Given the description of an element on the screen output the (x, y) to click on. 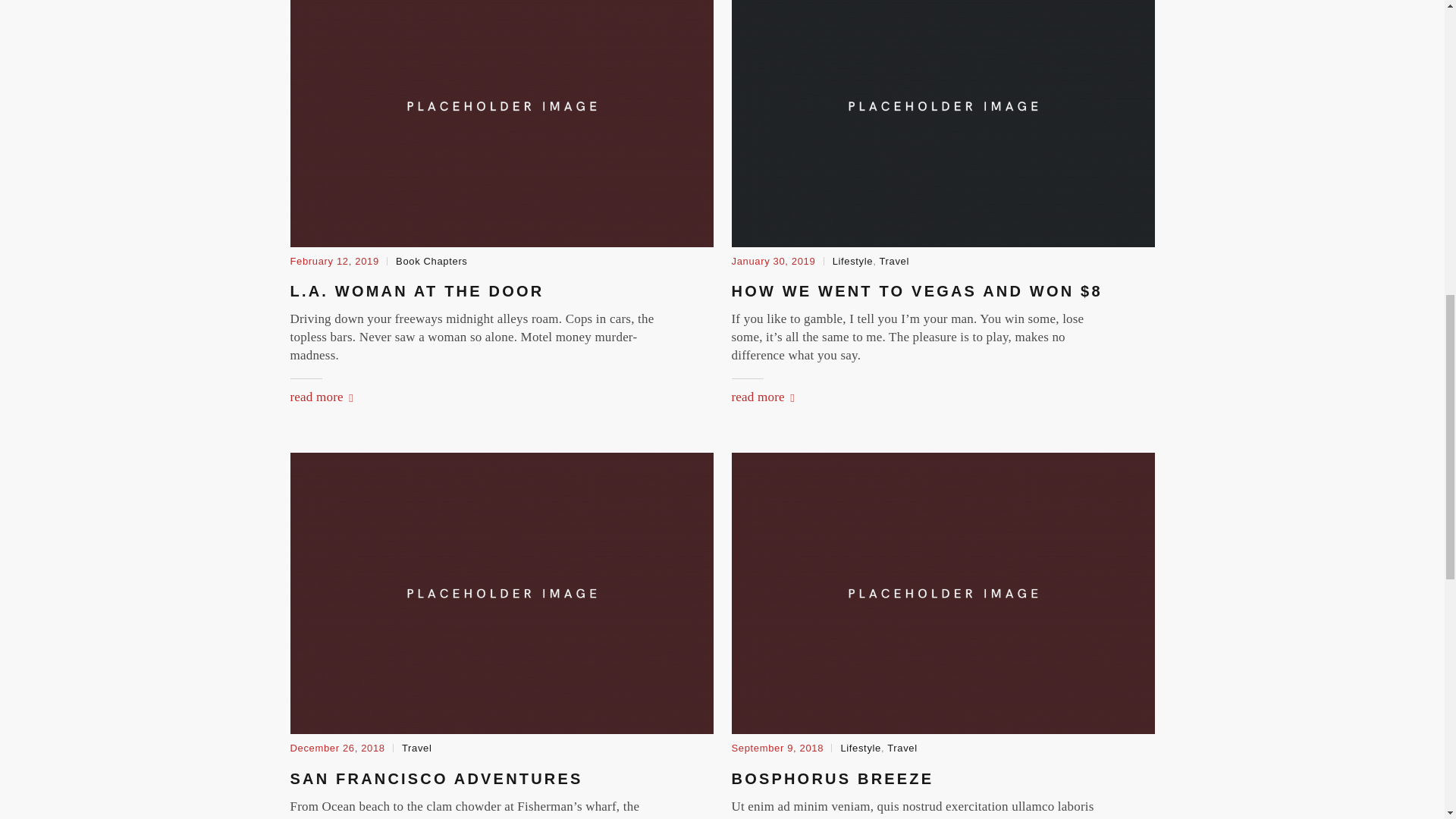
Lifestyle (852, 260)
December 26, 2018 (336, 747)
SAN FRANCISCO ADVENTURES (435, 778)
read more (761, 396)
Travel (893, 260)
Travel (416, 747)
January 30, 2019 (772, 260)
February 12, 2019 (333, 260)
read more (320, 396)
L.A. WOMAN AT THE DOOR (416, 290)
Book Chapters (431, 260)
